Given the description of an element on the screen output the (x, y) to click on. 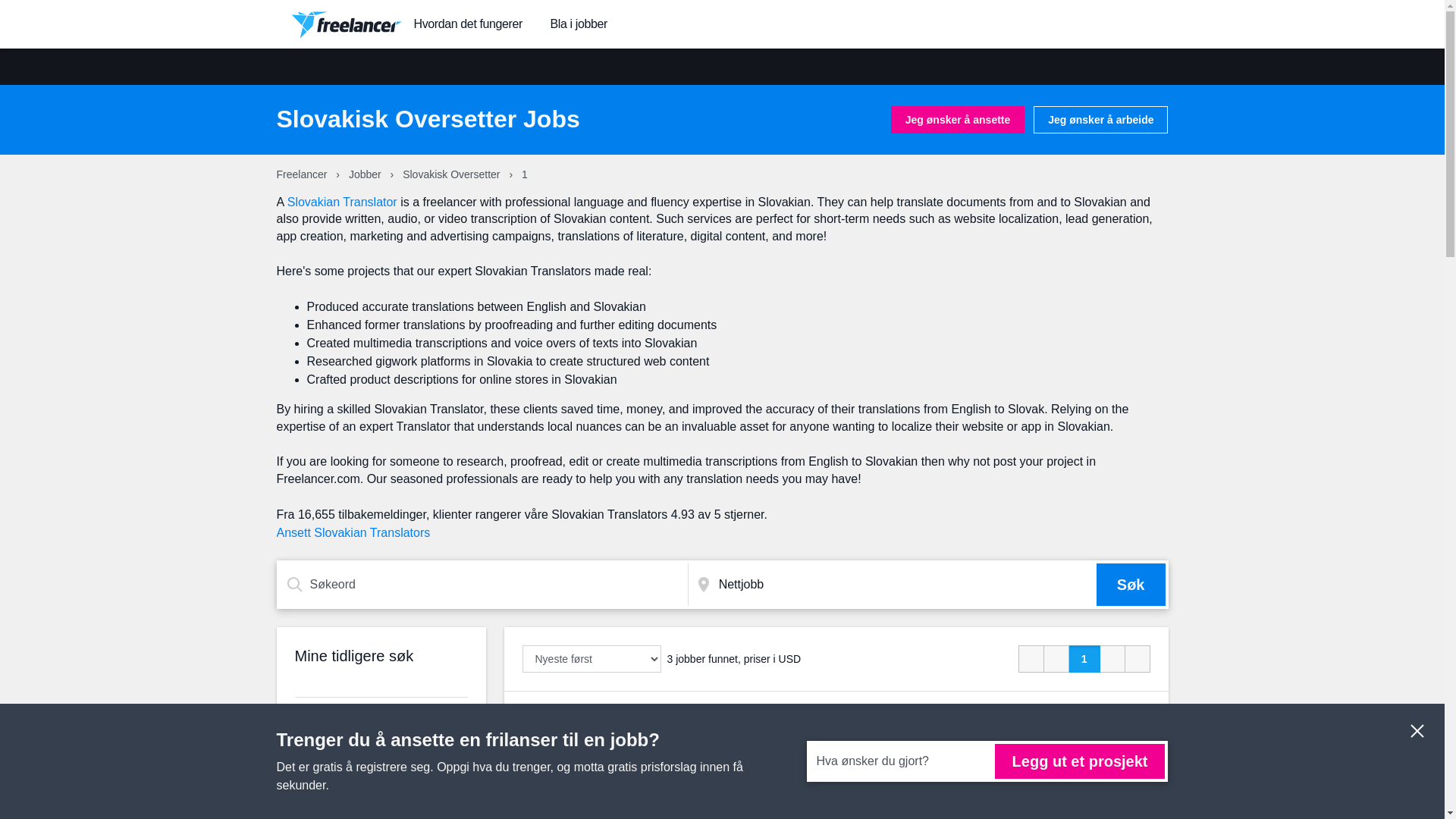
Bla i jobber (578, 24)
Ansett Slovakian Translators (352, 532)
Freelancer (303, 174)
Jobber (366, 174)
Slovakian Translator (341, 201)
Native tegalog needed (587, 717)
Nettjobb (904, 584)
1 (1084, 658)
Hvordan det fungerer (467, 24)
Slovakisk Oversetter (452, 174)
Nettjobb (904, 584)
